Given the description of an element on the screen output the (x, y) to click on. 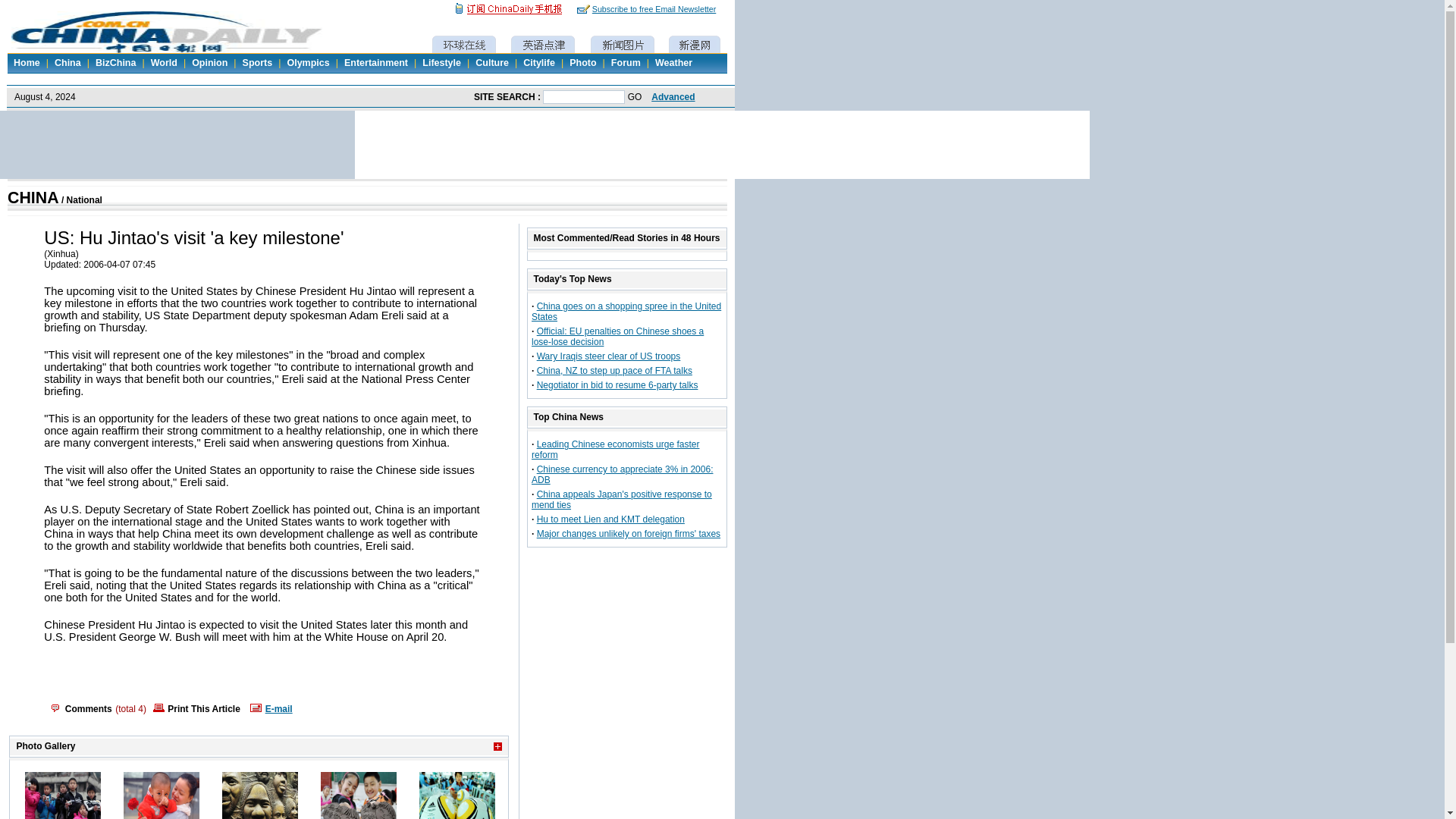
Weather (673, 62)
Official: EU penalties on Chinese shoes a lose-lose decision (617, 336)
Wary Iraqis steer clear of US troops (609, 356)
Olympics (307, 62)
CHINA (33, 198)
Entertainment (375, 62)
World (163, 62)
China goes on a shopping spree in the United States (625, 311)
China, NZ to step up pace of FTA talks (615, 370)
Lifestyle (441, 62)
